Given the description of an element on the screen output the (x, y) to click on. 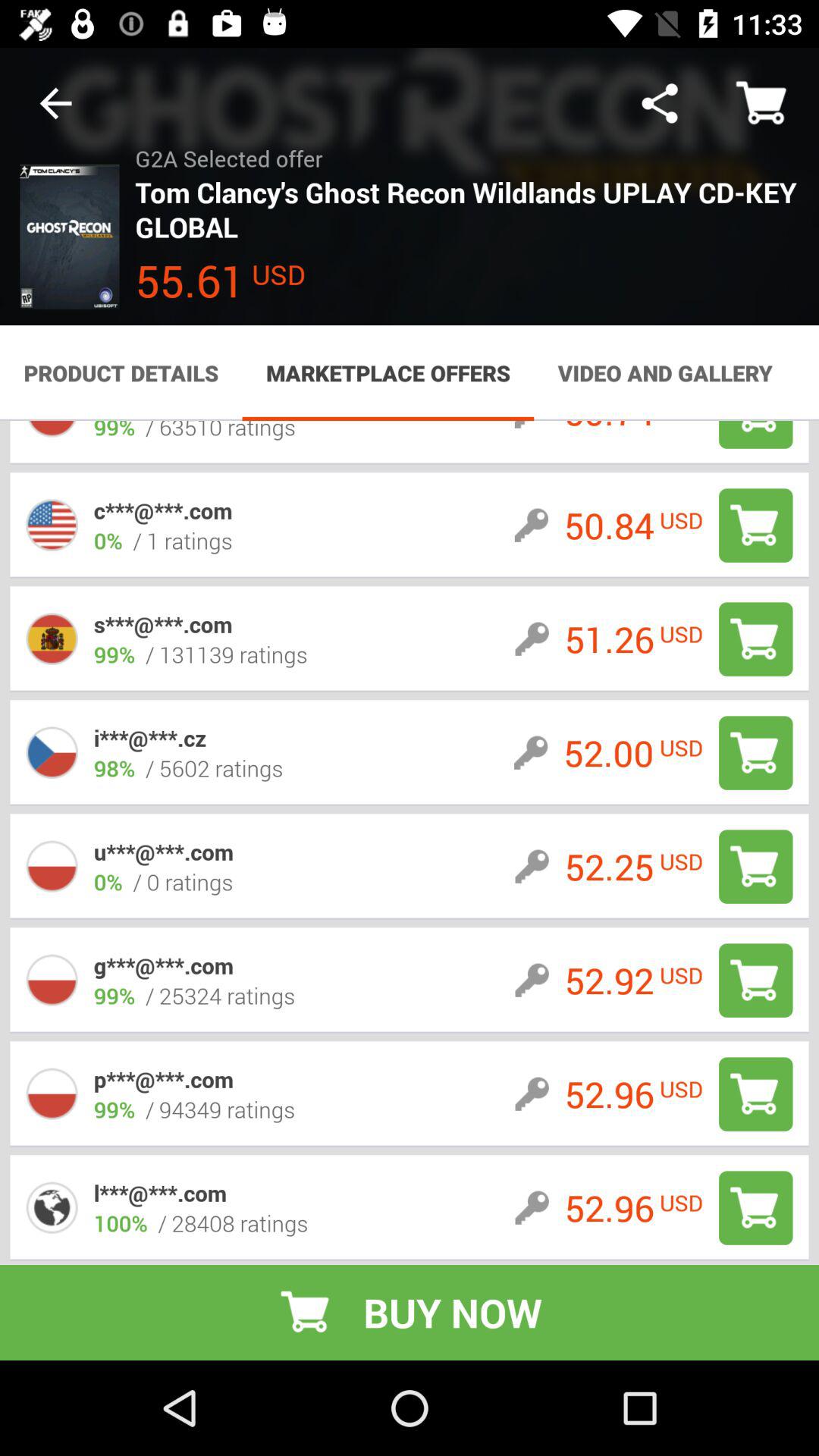
adds item to cart (755, 752)
